Given the description of an element on the screen output the (x, y) to click on. 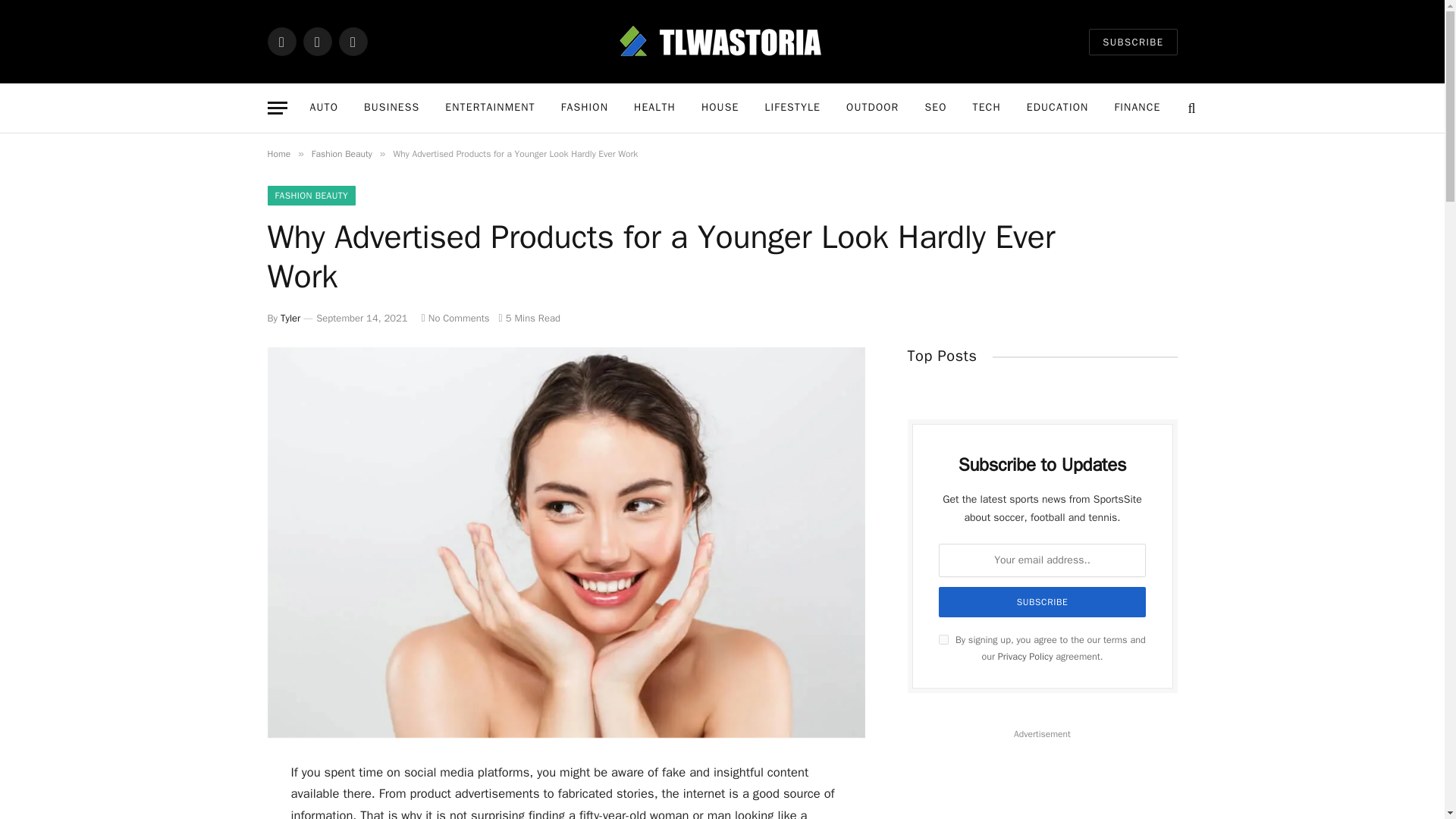
TECH (986, 107)
SUBSCRIBE (1132, 41)
Twitter (316, 41)
AUTO (324, 107)
No Comments (455, 318)
HOUSE (720, 107)
ENTERTAINMENT (489, 107)
OUTDOOR (871, 107)
Fashion Beauty (341, 153)
TlwaStoria (721, 41)
